Given the description of an element on the screen output the (x, y) to click on. 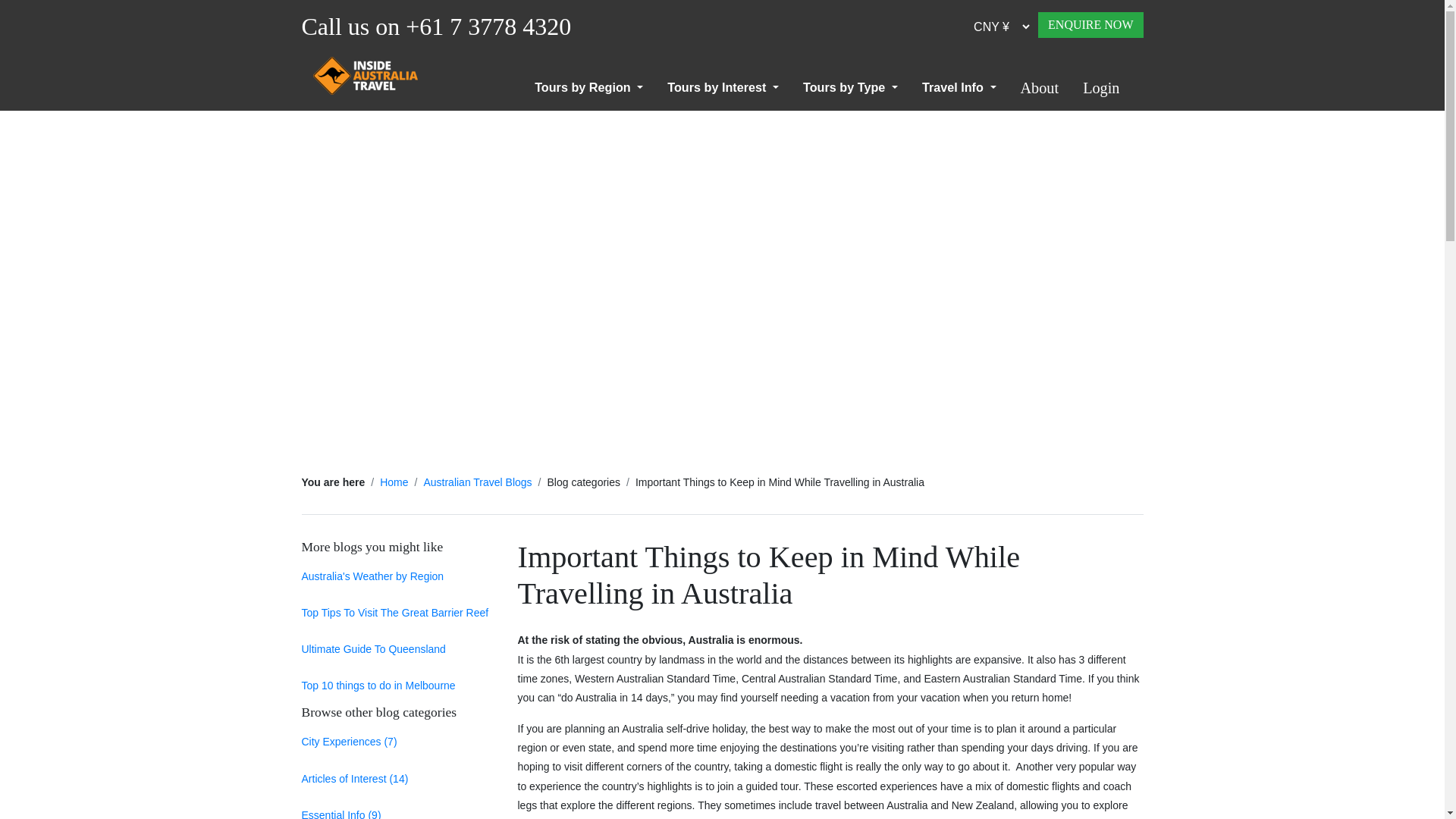
Australia's Weather by Region (372, 576)
Inside Australia Travel (364, 75)
Australian Travel Blogs (477, 481)
Tours by Type (850, 87)
Tours by Region (588, 87)
Login (1100, 87)
About (1040, 87)
ENQUIRE NOW (1090, 24)
Travel Info (959, 87)
Home (393, 481)
Tours by Interest (722, 87)
Select to change currency (996, 26)
